Given the description of an element on the screen output the (x, y) to click on. 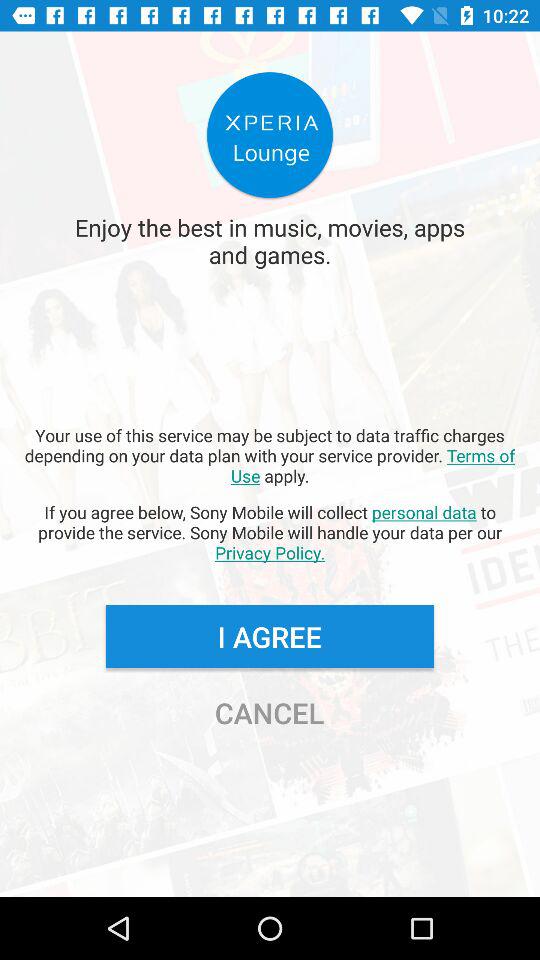
click icon above i agree button (270, 532)
